Given the description of an element on the screen output the (x, y) to click on. 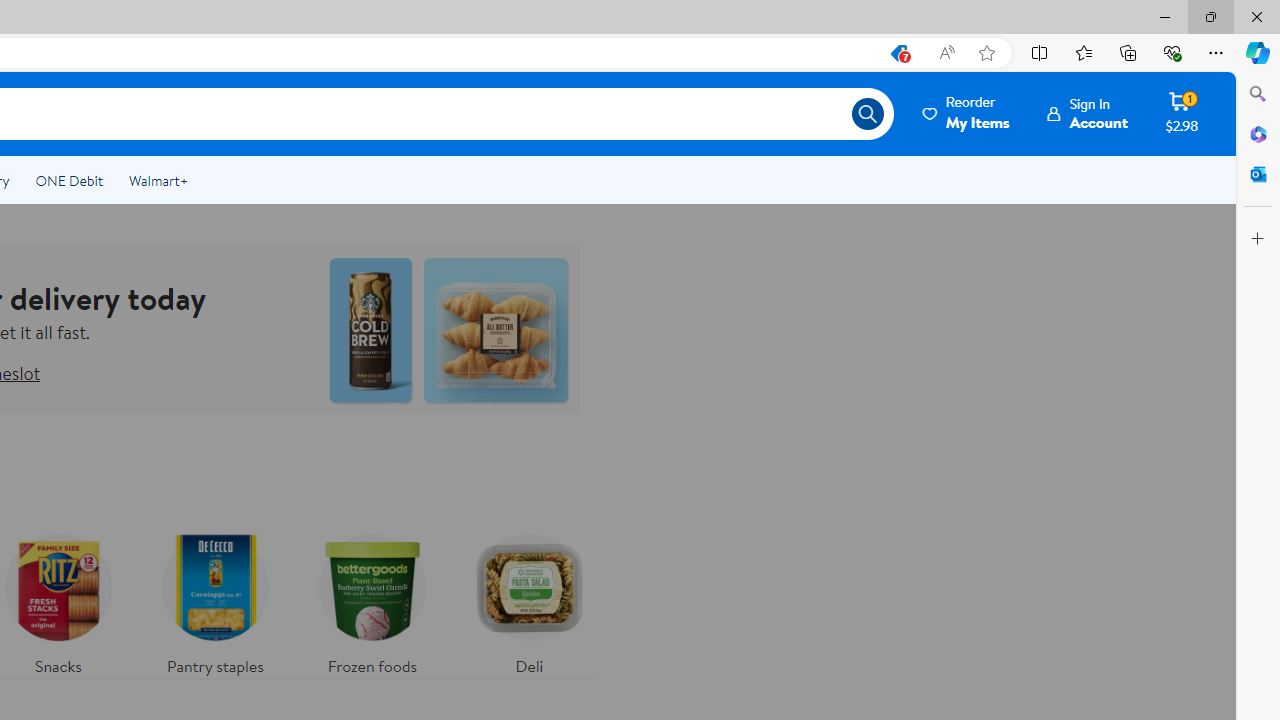
This site has coupons! Shopping in Microsoft Edge, 7 (898, 53)
Pantry staples (214, 599)
Deli (529, 599)
Walmart+ (158, 180)
Sign In Account (1088, 113)
ONE Debit (68, 180)
ReorderMy Items (967, 113)
